Given the description of an element on the screen output the (x, y) to click on. 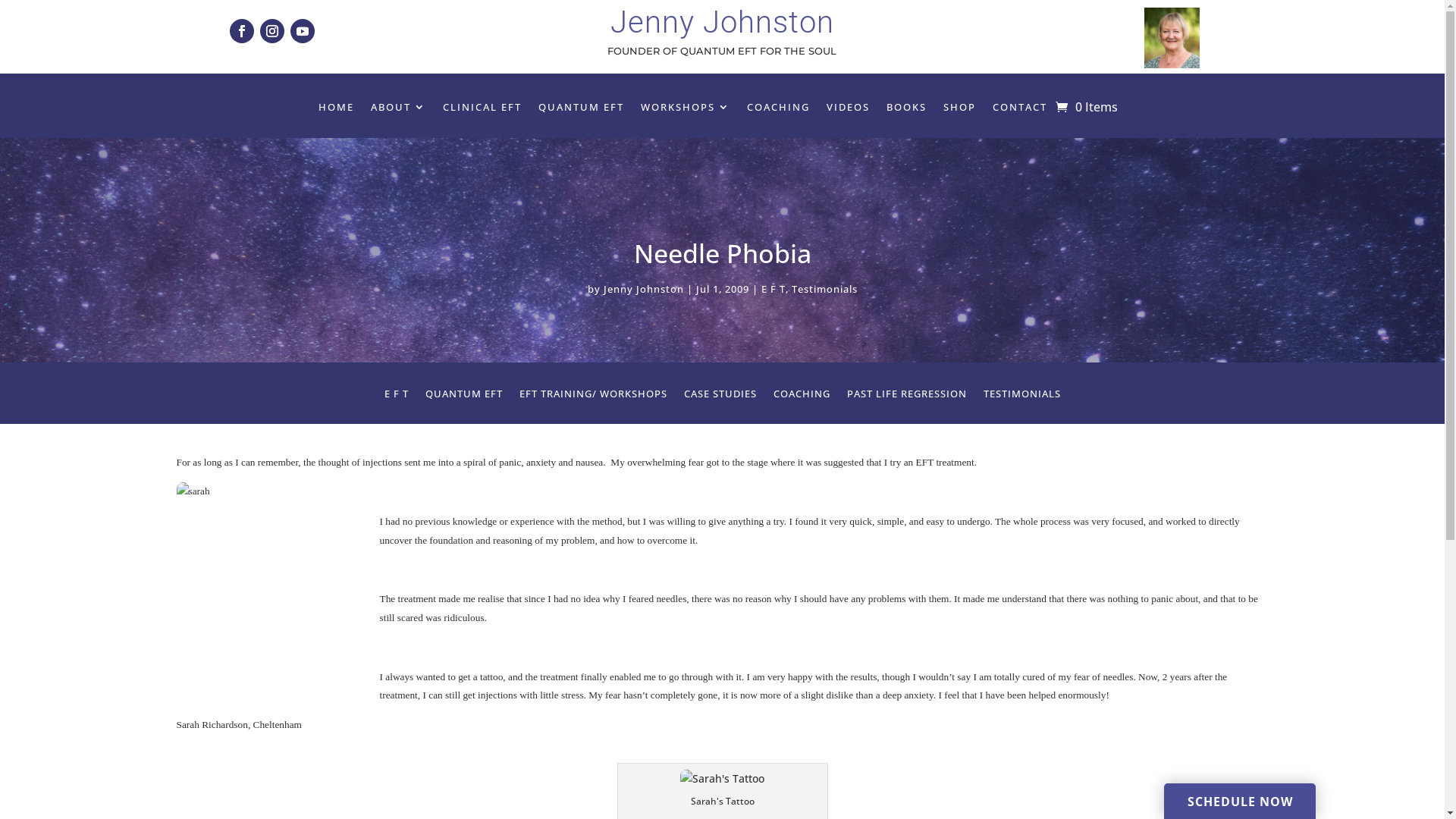
sarah Element type: hover (271, 595)
Follow on Instagram Element type: hover (272, 30)
EFT TRAINING/ WORKSHOPS Element type: text (592, 396)
QUANTUM EFT Element type: text (581, 109)
Testimonials Element type: text (824, 288)
jj3 Element type: hover (1171, 37)
E F T Element type: text (395, 396)
QUANTUM EFT Element type: text (463, 396)
TESTIMONIALS Element type: text (1021, 396)
CLINICAL EFT Element type: text (481, 109)
SHOP Element type: text (959, 109)
tattoo Element type: hover (722, 778)
ABOUT Element type: text (398, 109)
COACHING Element type: text (801, 396)
E F T Element type: text (773, 288)
BOOKS Element type: text (906, 109)
COACHING Element type: text (777, 109)
VIDEOS Element type: text (847, 109)
Follow on Youtube Element type: hover (302, 30)
Jenny Johnston Element type: text (643, 288)
0 Items Element type: text (1086, 106)
Follow on Facebook Element type: hover (241, 30)
CASE STUDIES Element type: text (720, 396)
CONTACT Element type: text (1019, 109)
WORKSHOPS Element type: text (685, 109)
HOME Element type: text (336, 109)
PAST LIFE REGRESSION Element type: text (906, 396)
